Given the description of an element on the screen output the (x, y) to click on. 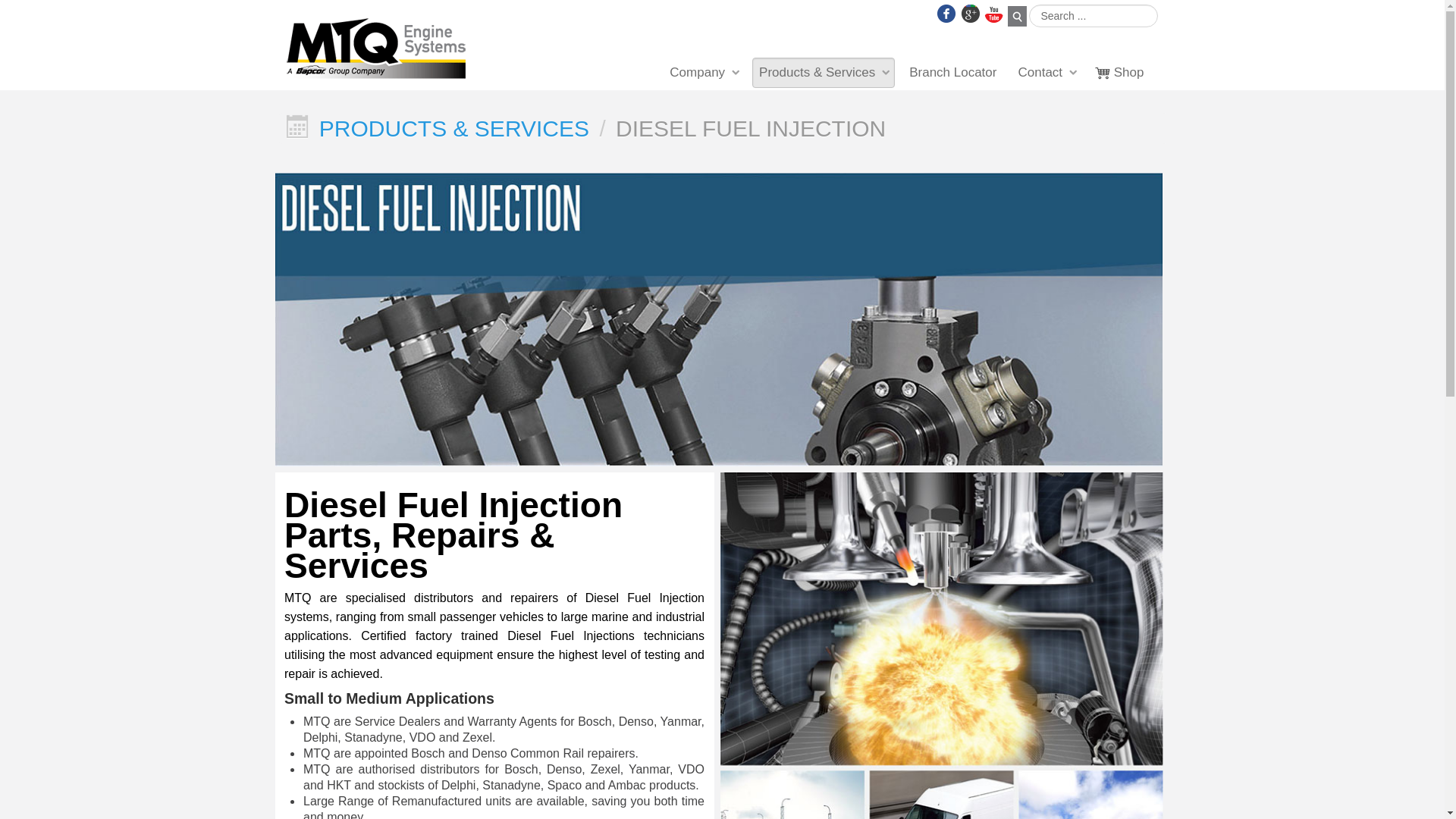
PRODUCTS & SERVICES Element type: text (454, 128)
Shop Element type: text (1119, 72)
Branch Locator Element type: text (952, 72)
Company Element type: text (703, 72)
Contact Element type: text (1046, 72)
Products & Services Element type: text (823, 72)
Search Element type: text (1016, 16)
